Given the description of an element on the screen output the (x, y) to click on. 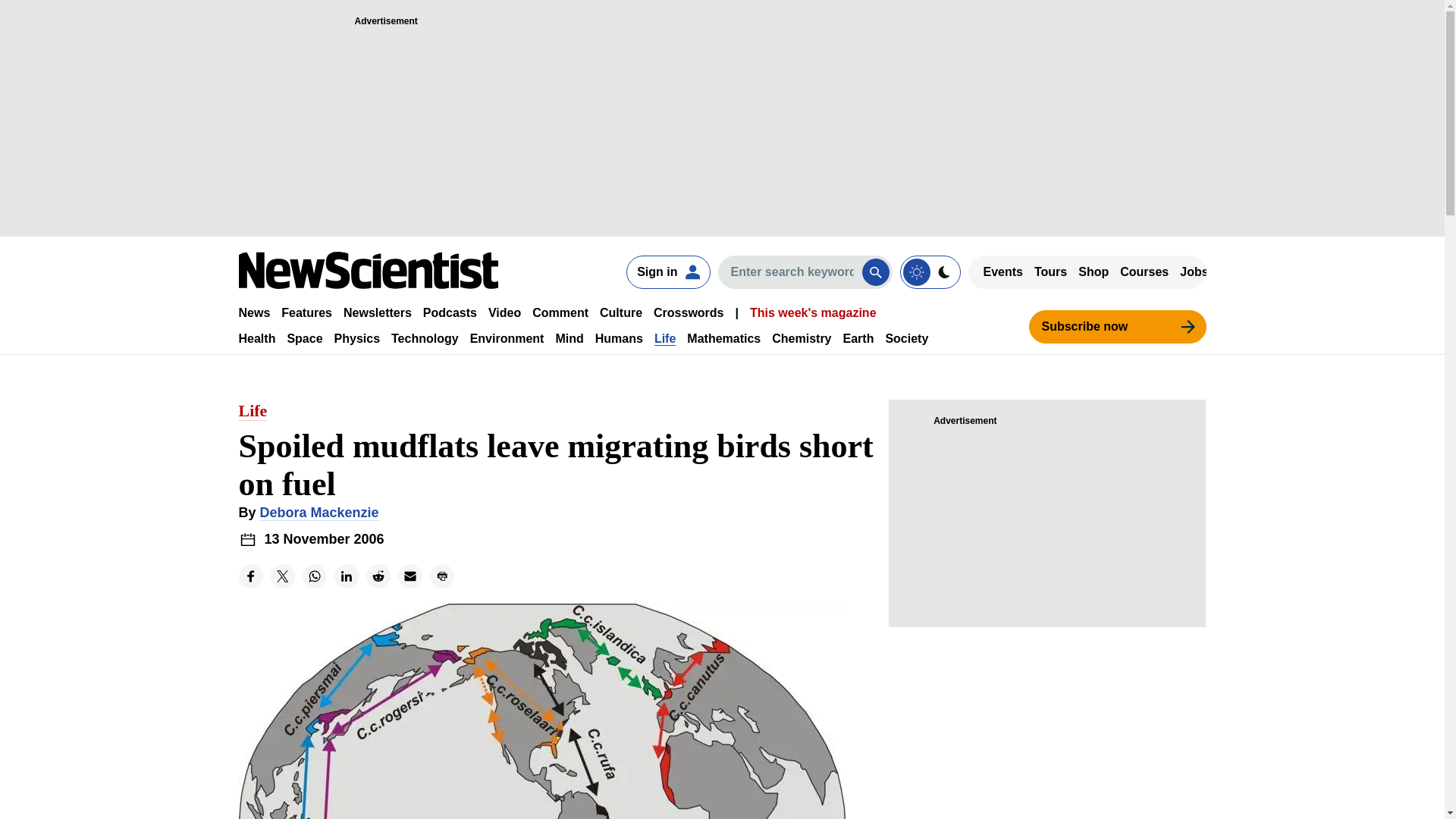
Calendar icon (247, 538)
Life (664, 338)
on (929, 272)
Shop (1093, 272)
Sign In page link (668, 272)
Podcasts (450, 313)
Humans (619, 338)
Comment (560, 313)
Video (504, 313)
Tours (1050, 272)
